Given the description of an element on the screen output the (x, y) to click on. 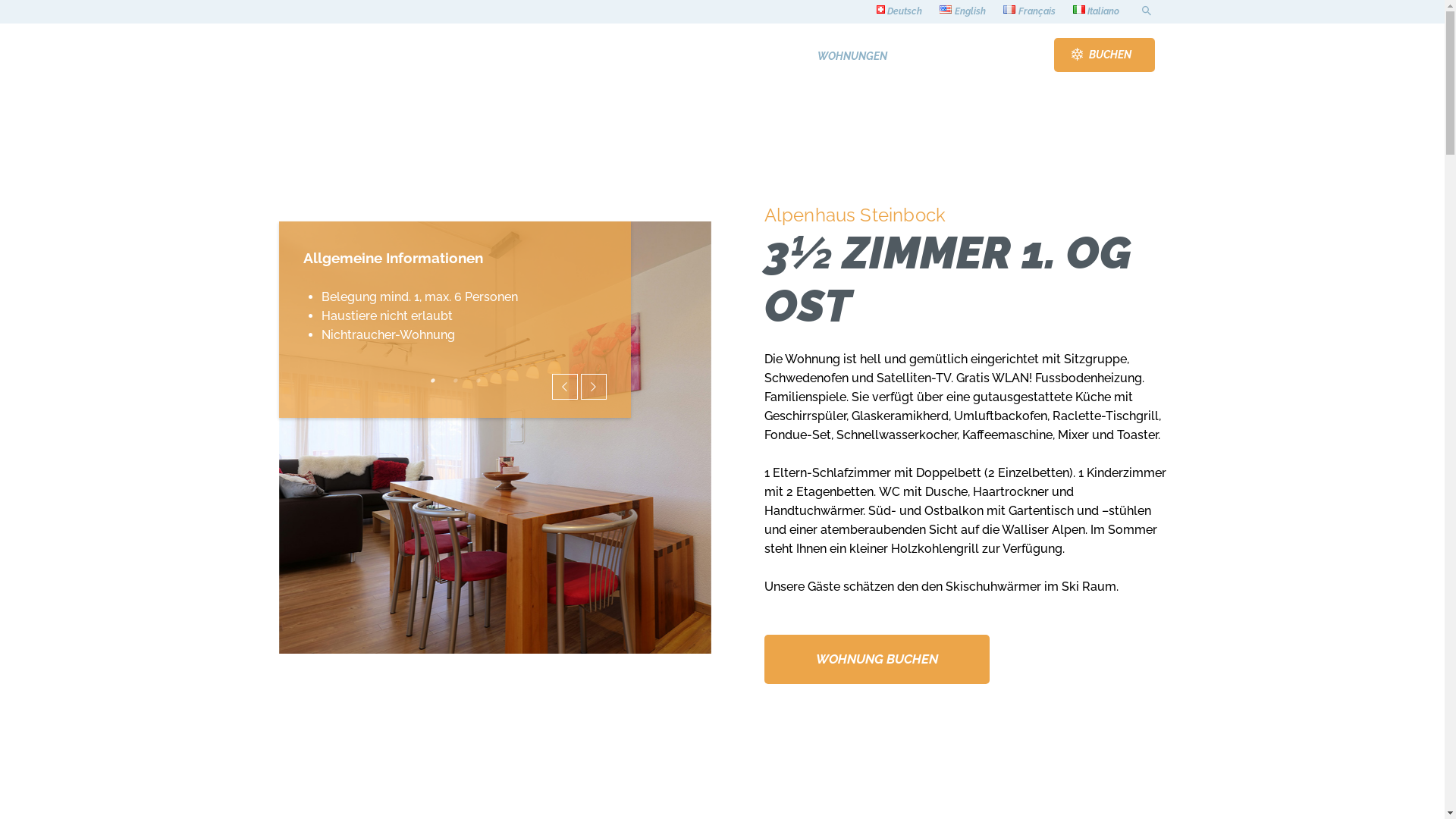
KONTAKT Element type: text (1005, 55)
English Element type: text (962, 11)
3 Element type: text (477, 380)
Deutsch Element type: hover (880, 9)
ANREISE Element type: text (934, 55)
WOHNUNGEN Element type: text (851, 55)
WOHNUNG BUCHEN Element type: text (876, 659)
Italiano Element type: text (1095, 11)
Deutsch Element type: text (899, 11)
BUCHEN Element type: text (1104, 54)
1 Element type: text (431, 380)
2 Element type: text (454, 380)
HOME Element type: text (774, 55)
Italiano Element type: hover (1079, 9)
English Element type: hover (945, 9)
